Given the description of an element on the screen output the (x, y) to click on. 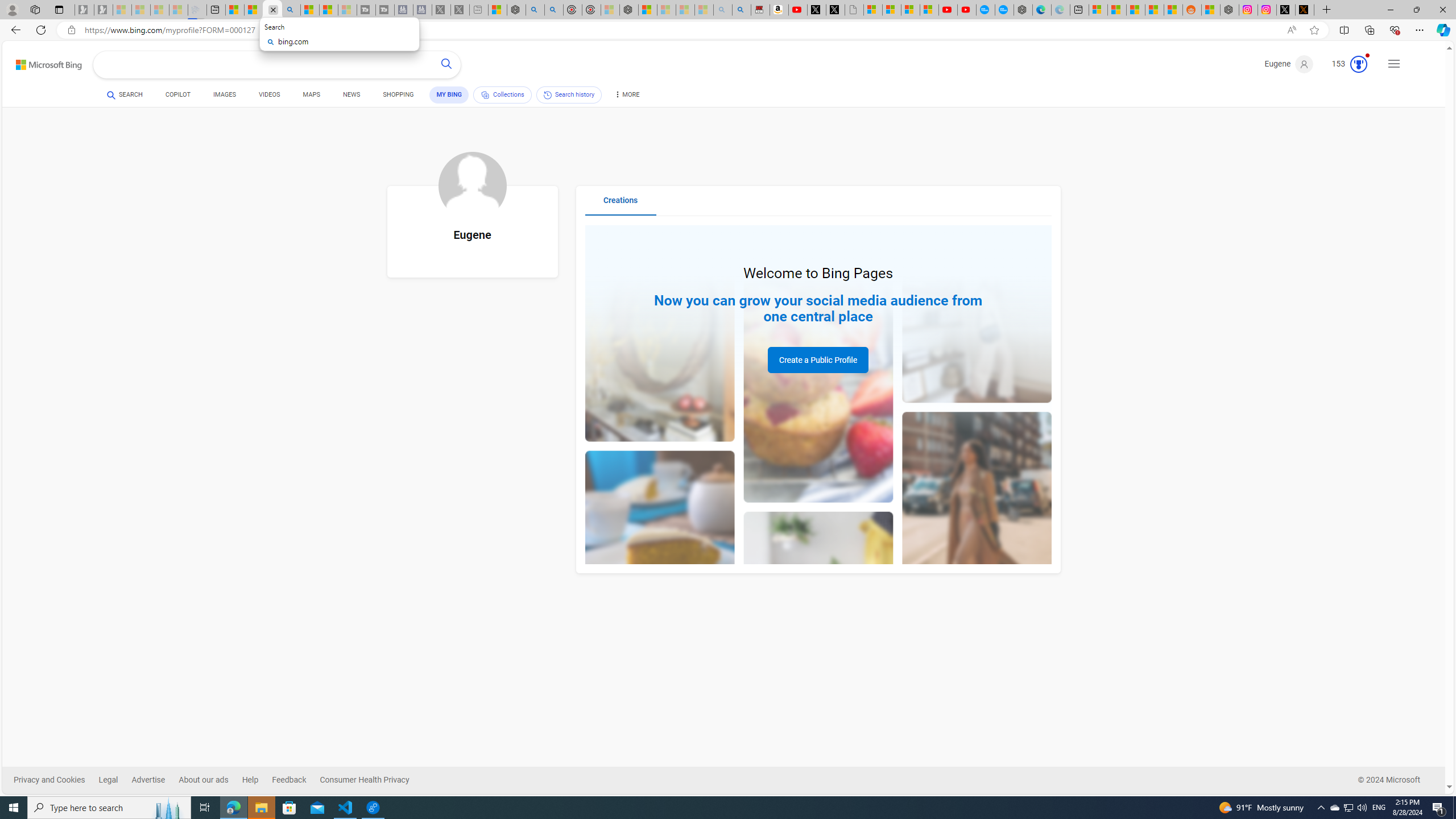
poe - Search (534, 9)
Legal (108, 779)
Help (256, 780)
MORE (625, 96)
Dropdown Menu (625, 94)
Microsoft Rewards 153 (1345, 63)
Help (250, 779)
Privacy and Cookies (49, 779)
